Given the description of an element on the screen output the (x, y) to click on. 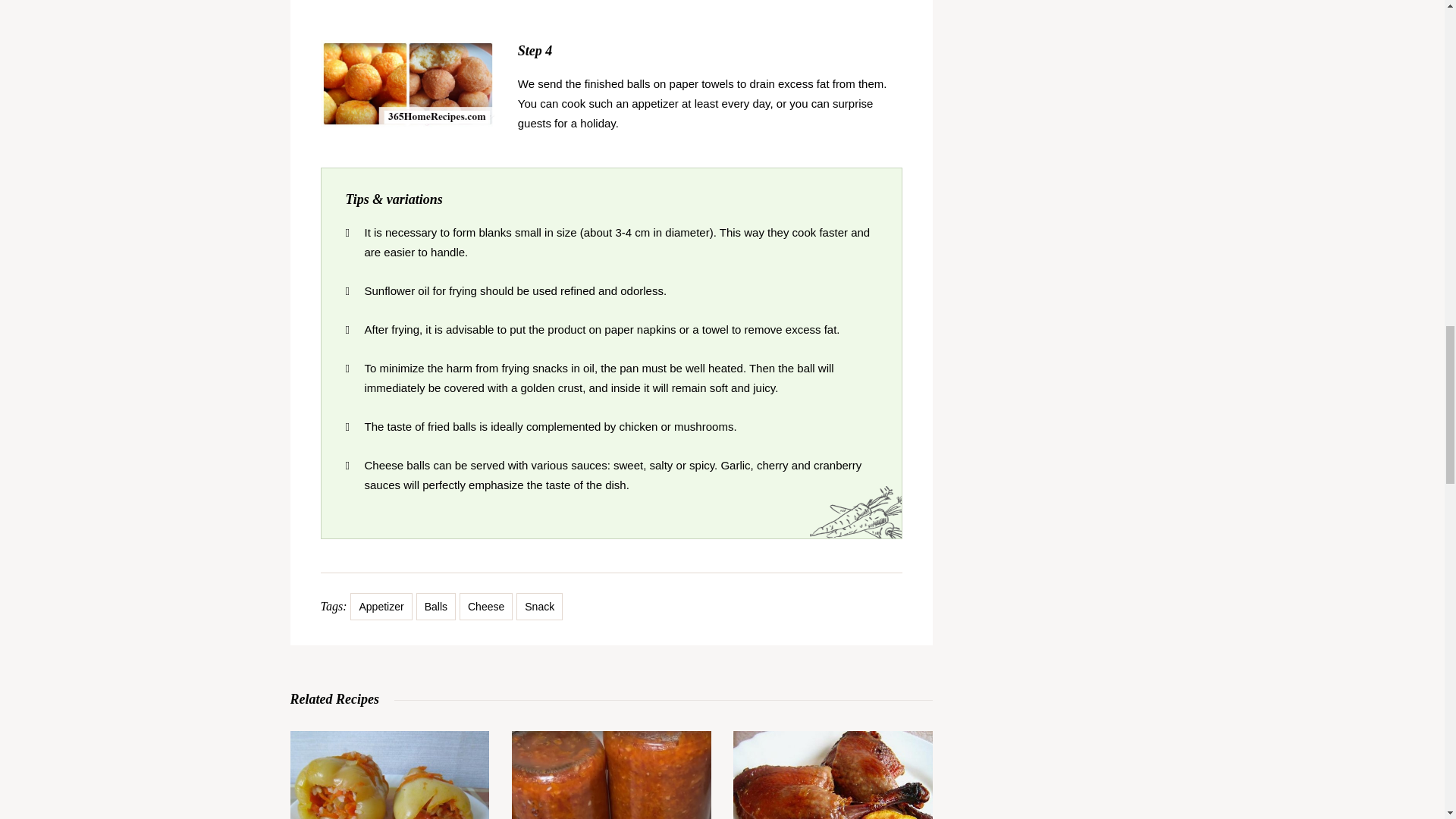
Cheese (486, 605)
Appetizer (381, 605)
Balls (435, 605)
Snack (539, 605)
